Given the description of an element on the screen output the (x, y) to click on. 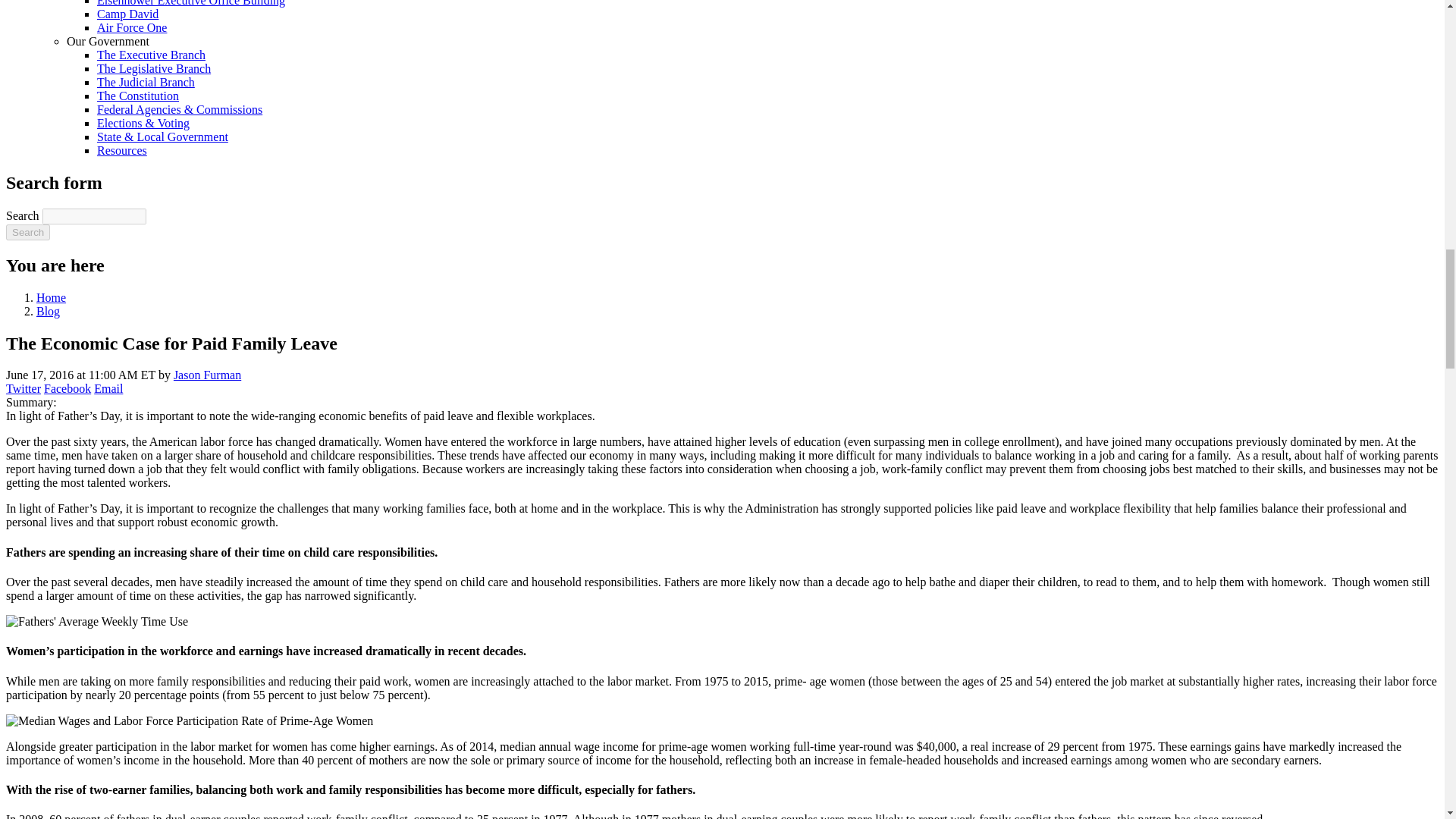
Twitter (22, 388)
Facebook (66, 388)
Email (108, 388)
Search (27, 232)
Enter the terms you wish to search for. (94, 216)
